Given the description of an element on the screen output the (x, y) to click on. 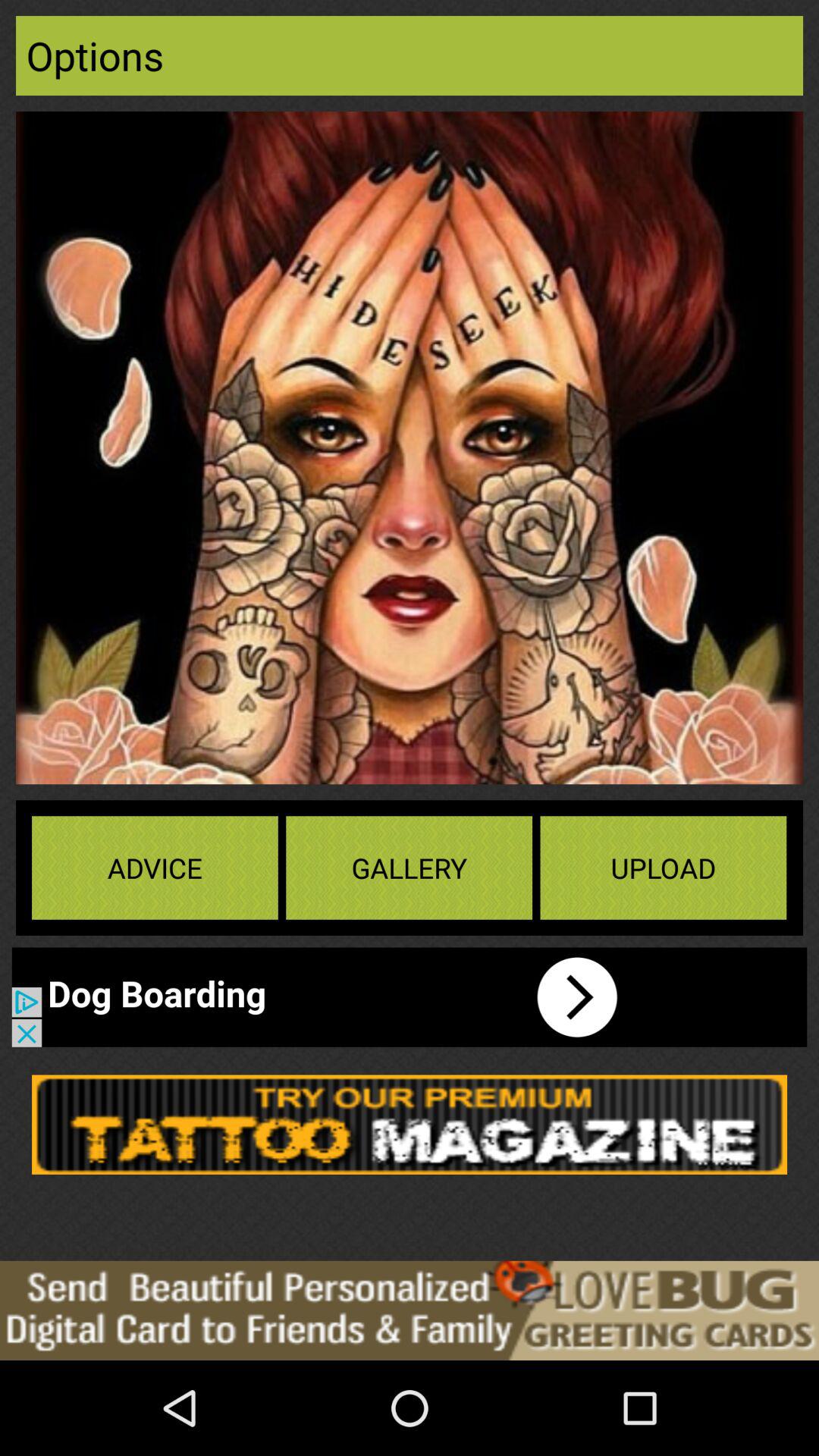
advertisement bar (329, 997)
